Given the description of an element on the screen output the (x, y) to click on. 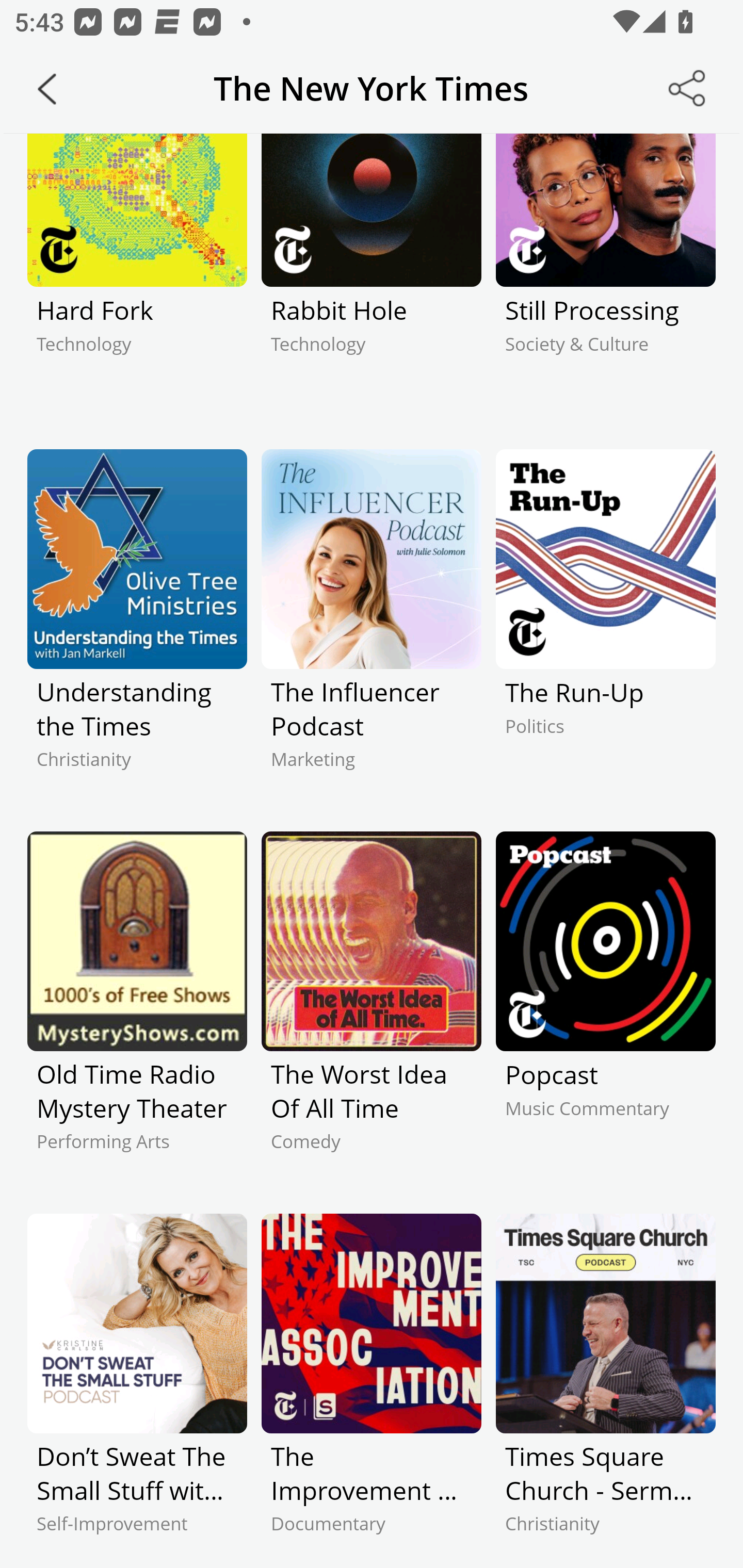
Back (46, 88)
Hard Fork Technology (137, 277)
Rabbit Hole Technology (371, 277)
Still Processing Society & Culture (605, 277)
Understanding the Times Christianity (137, 627)
The Influencer Podcast Marketing (371, 627)
The Run-Up Politics (605, 627)
Old Time Radio Mystery Theater Performing Arts (137, 1008)
The Worst Idea Of All Time Comedy (371, 1008)
Popcast Music Commentary (605, 1008)
The Improvement Association Documentary (371, 1390)
Times Square Church - Sermons Christianity (605, 1390)
